Given the description of an element on the screen output the (x, y) to click on. 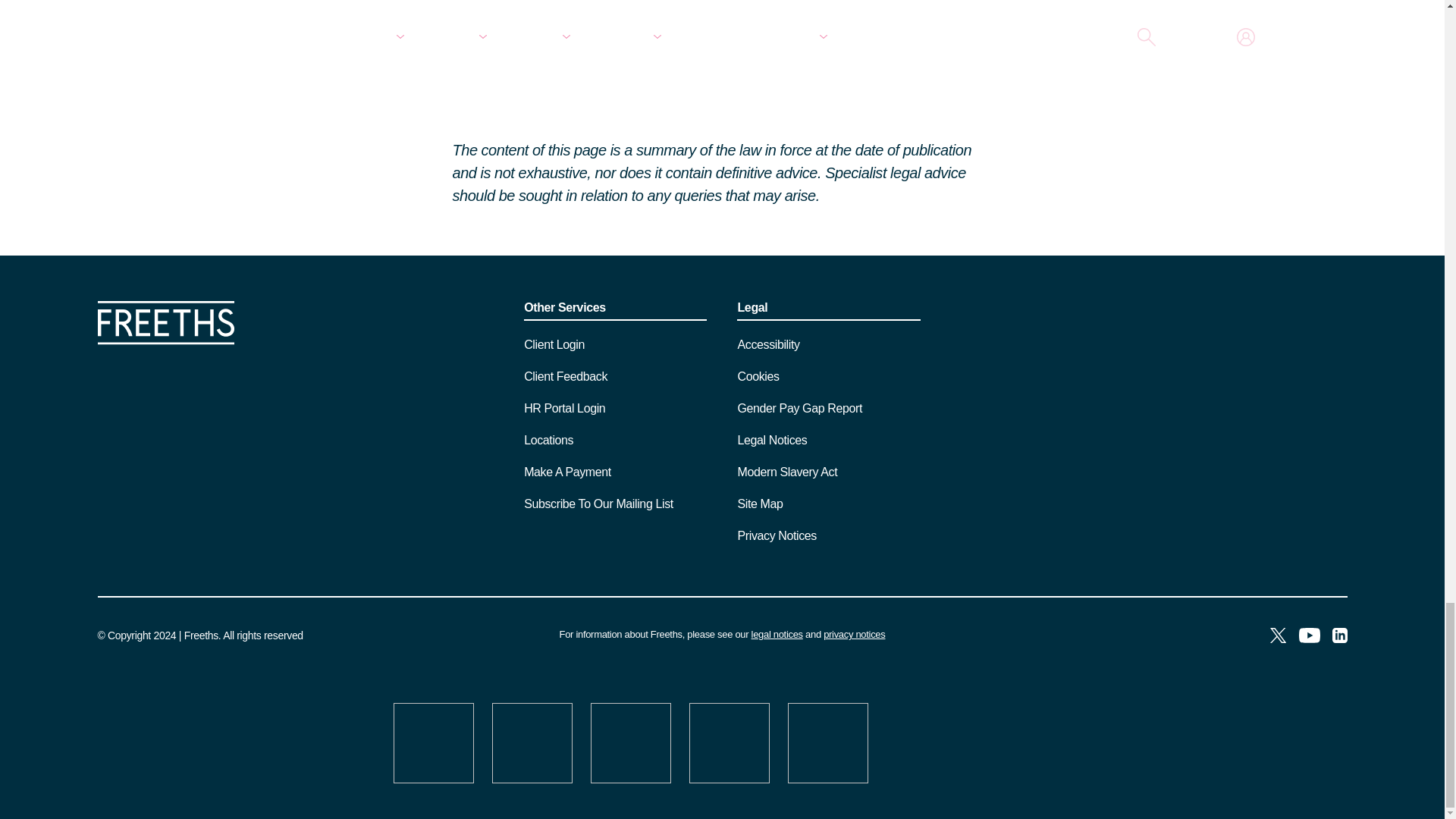
email us (480, 0)
Client Login (554, 344)
Make A Payment (567, 472)
YouTube (1308, 636)
Locations (548, 440)
Other Services (615, 311)
Accessibility (767, 344)
Home (164, 340)
Legal (828, 311)
Legal Notices (777, 634)
